Given the description of an element on the screen output the (x, y) to click on. 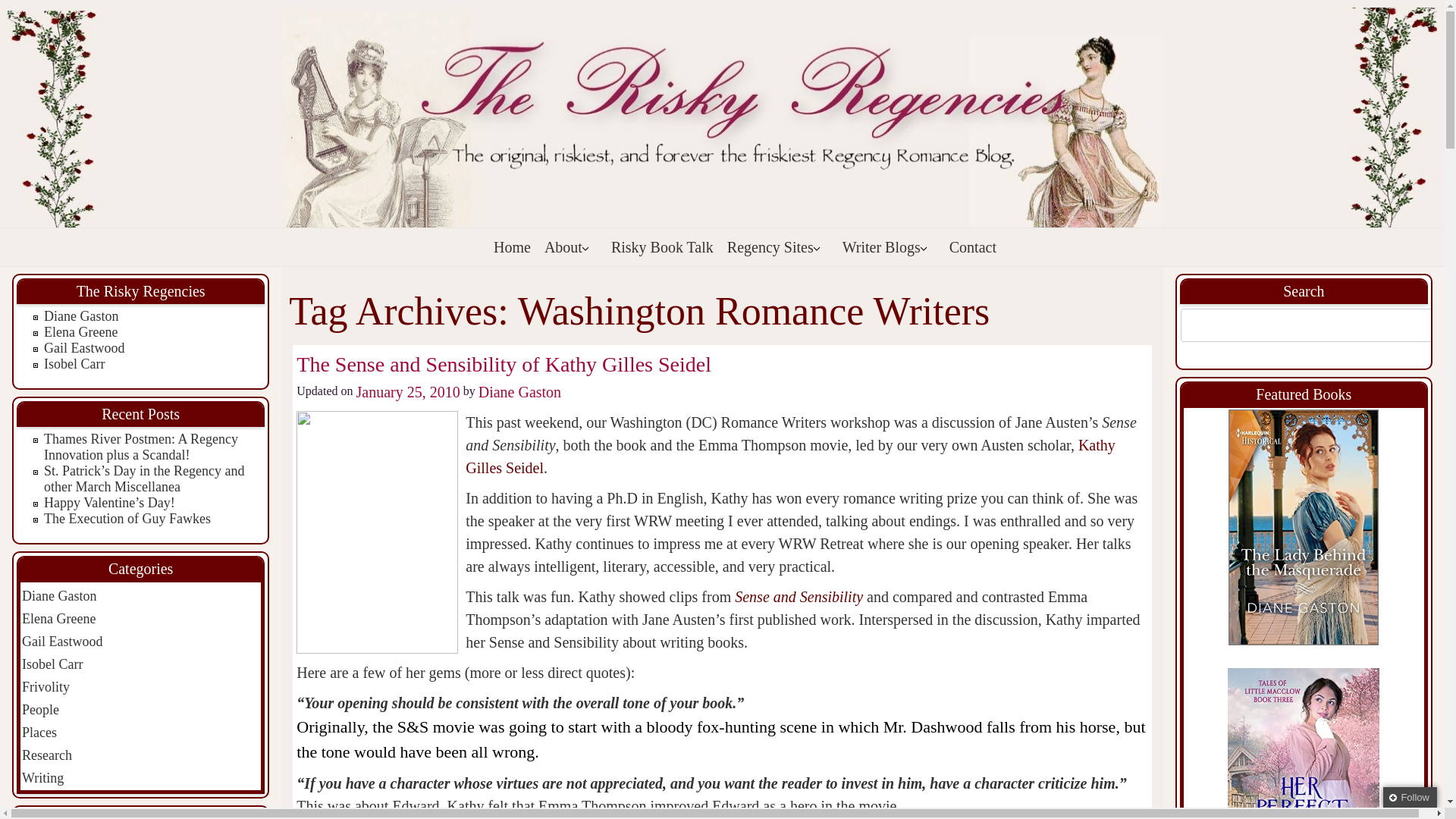
Gail Eastwood (83, 347)
About (570, 247)
Risky Book Talk (662, 247)
The website of romance author Isobel Carr (73, 363)
Thames River Postmen: A Regency Innovation plus a Scandal! (140, 446)
Contact (972, 247)
Isobel Carr (73, 363)
Website of author Gail Eastwood (83, 347)
Writer Blogs (889, 247)
Elena Greene (80, 331)
Diane Gaston (80, 315)
Home (512, 247)
Regency Sites (777, 247)
View all posts by Diane Gaston (519, 392)
